Given the description of an element on the screen output the (x, y) to click on. 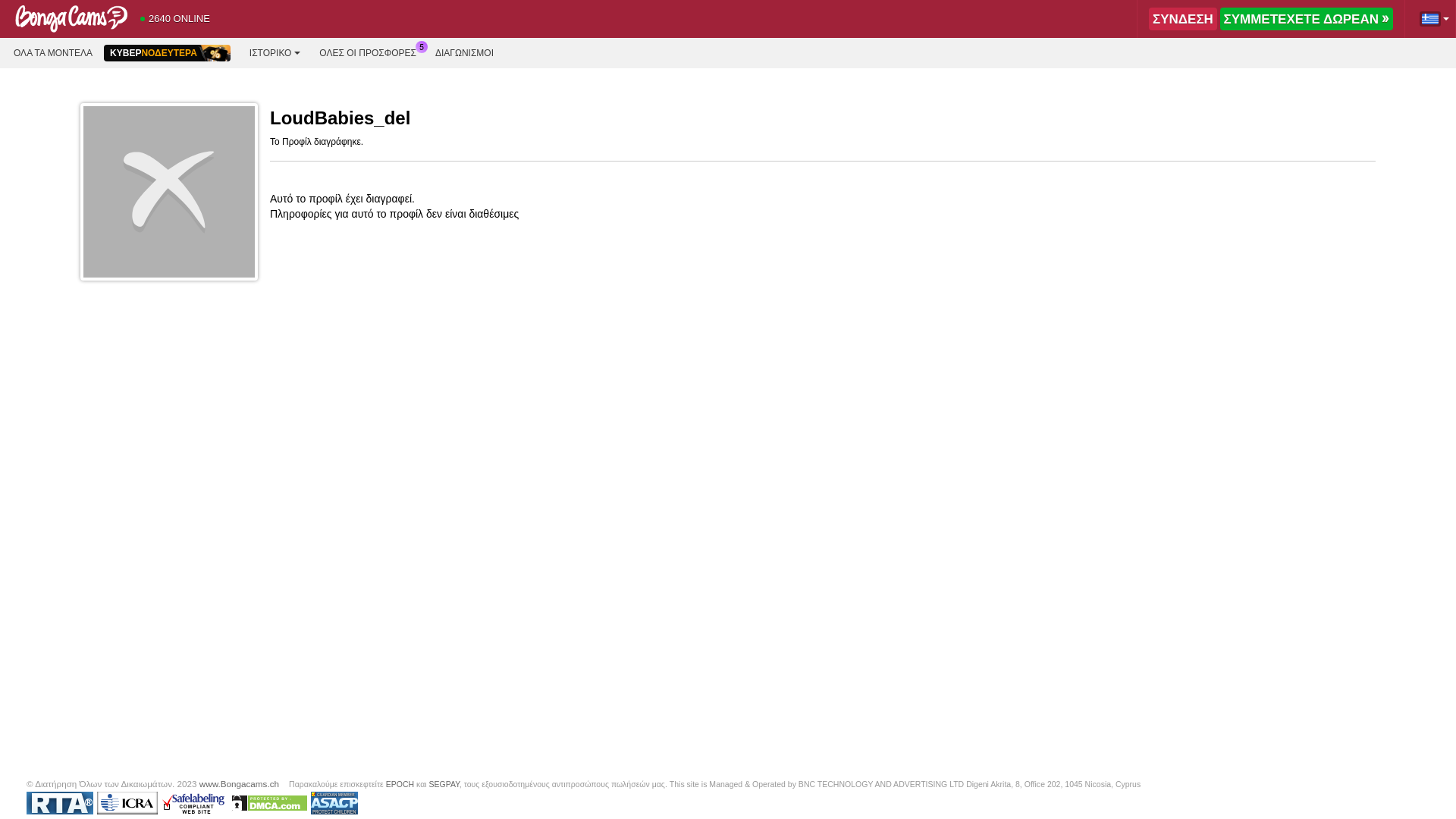
ICRA Element type: hover (127, 802)
Protected by DMCA Element type: hover (269, 802)
SafeLabeling Element type: hover (193, 802)
EPOCH Element type: text (399, 783)
SEGPAY Element type: text (443, 783)
Association of Sites Advocating Child Protection Element type: hover (333, 802)
RTA Element type: hover (59, 802)
www.Bongacams.ch Element type: text (239, 783)
